Given the description of an element on the screen output the (x, y) to click on. 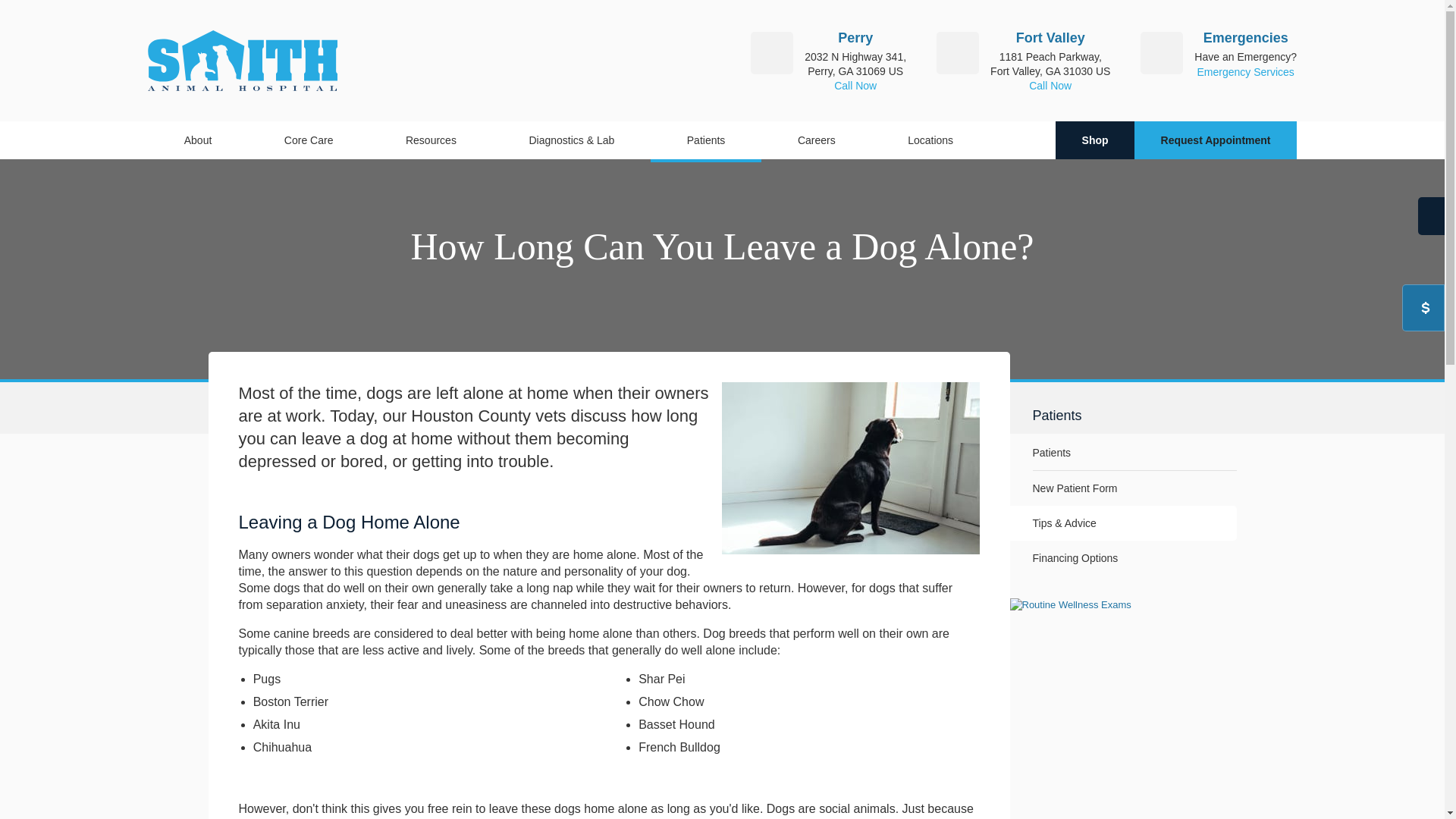
Emergencies (1246, 37)
Fort Valley (1050, 37)
Perry (855, 37)
Have an Emergency? (1245, 56)
